Given the description of an element on the screen output the (x, y) to click on. 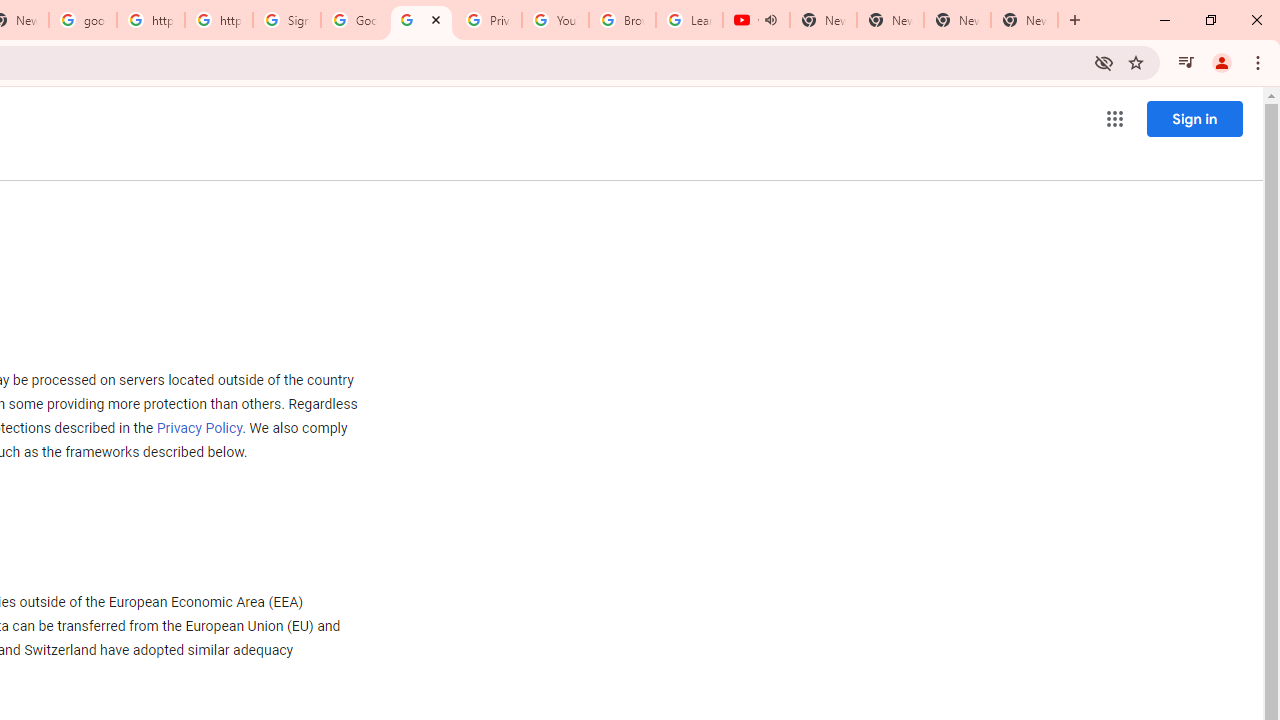
YouTube (555, 20)
New Tab (1024, 20)
https://scholar.google.com/ (150, 20)
